Given the description of an element on the screen output the (x, y) to click on. 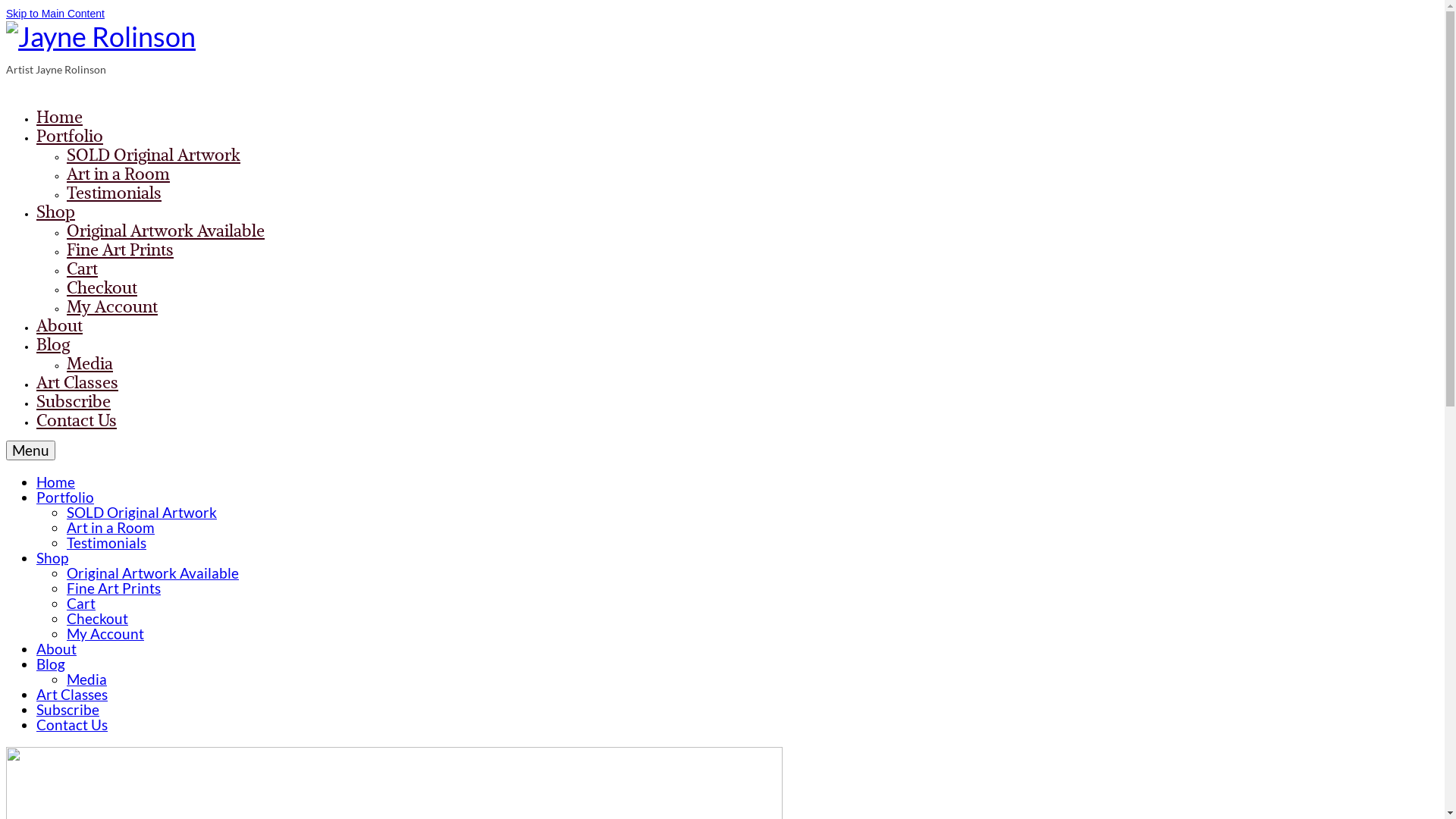
Media Element type: text (89, 362)
Art Classes Element type: text (71, 693)
Checkout Element type: text (101, 287)
Testimonials Element type: text (113, 192)
Portfolio Element type: text (69, 135)
Cart Element type: text (80, 602)
Fine Art Prints Element type: text (113, 587)
Art in a Room Element type: text (117, 173)
Original Artwork Available Element type: text (152, 572)
Cart Element type: text (81, 268)
Skip to Main Content Element type: text (55, 13)
Blog Element type: text (50, 663)
About Element type: text (56, 648)
Contact Us Element type: text (71, 724)
Fine Art Prints Element type: text (119, 249)
Subscribe Element type: text (73, 400)
Media Element type: text (86, 678)
SOLD Original Artwork Element type: text (141, 511)
Contact Us Element type: text (76, 419)
About Element type: text (59, 324)
Checkout Element type: text (97, 618)
Art Classes Element type: text (77, 381)
SOLD Original Artwork Element type: text (153, 154)
Shop Element type: text (55, 211)
Home Element type: text (55, 481)
Testimonials Element type: text (106, 542)
Menu Element type: text (30, 450)
Portfolio Element type: text (65, 496)
Original Artwork Available Element type: text (165, 230)
My Account Element type: text (111, 305)
Shop Element type: text (52, 557)
Home Element type: text (59, 116)
Art in a Room Element type: text (110, 527)
My Account Element type: text (105, 633)
Subscribe Element type: text (67, 709)
Blog Element type: text (52, 343)
